Given the description of an element on the screen output the (x, y) to click on. 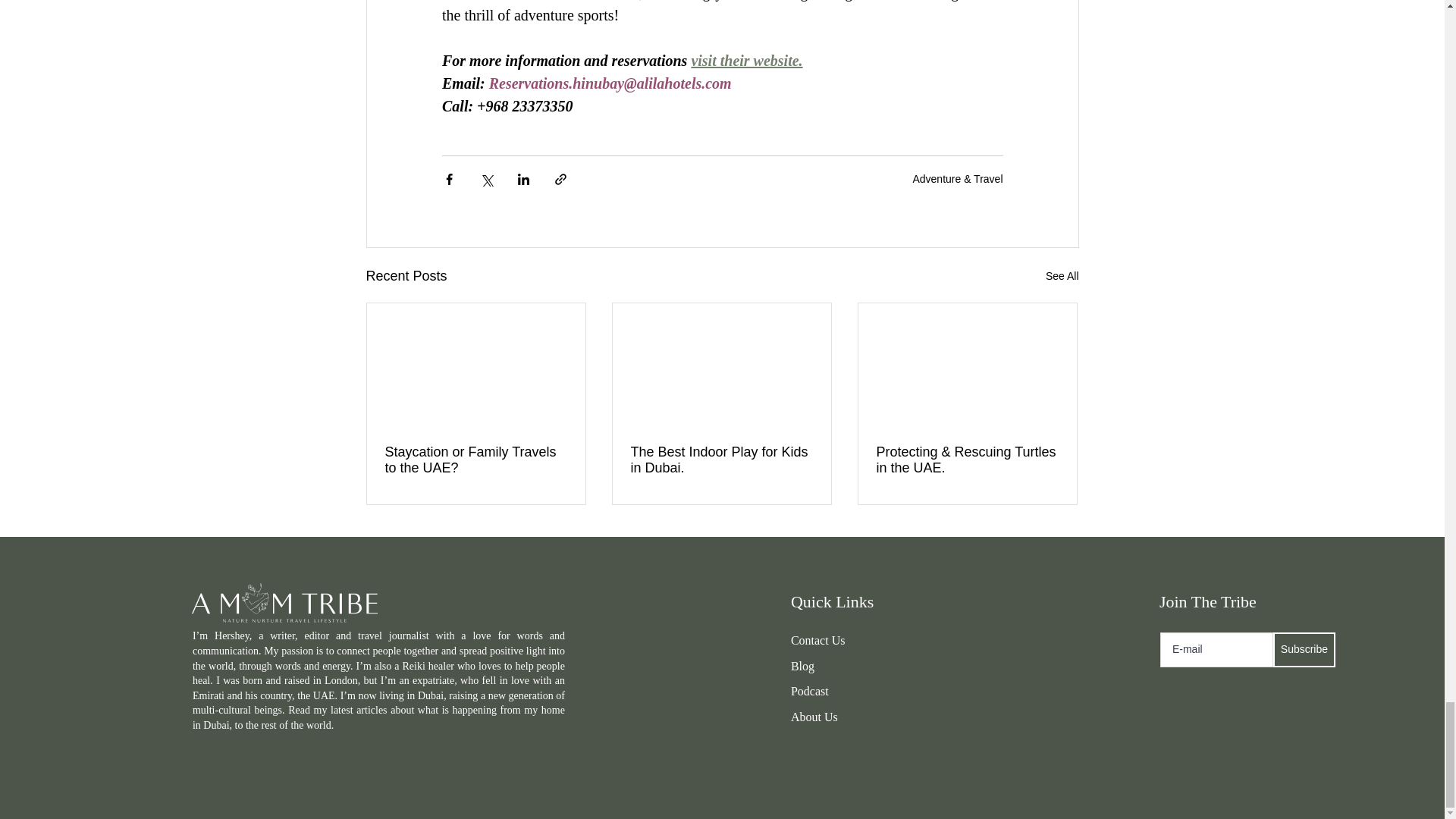
visit their website. (746, 60)
Podcast (809, 690)
The Best Indoor Play for Kids in Dubai. (721, 459)
Blog (801, 666)
See All (1061, 276)
Contact Us (817, 640)
Staycation or Family Travels to the UAE? (476, 459)
